Given the description of an element on the screen output the (x, y) to click on. 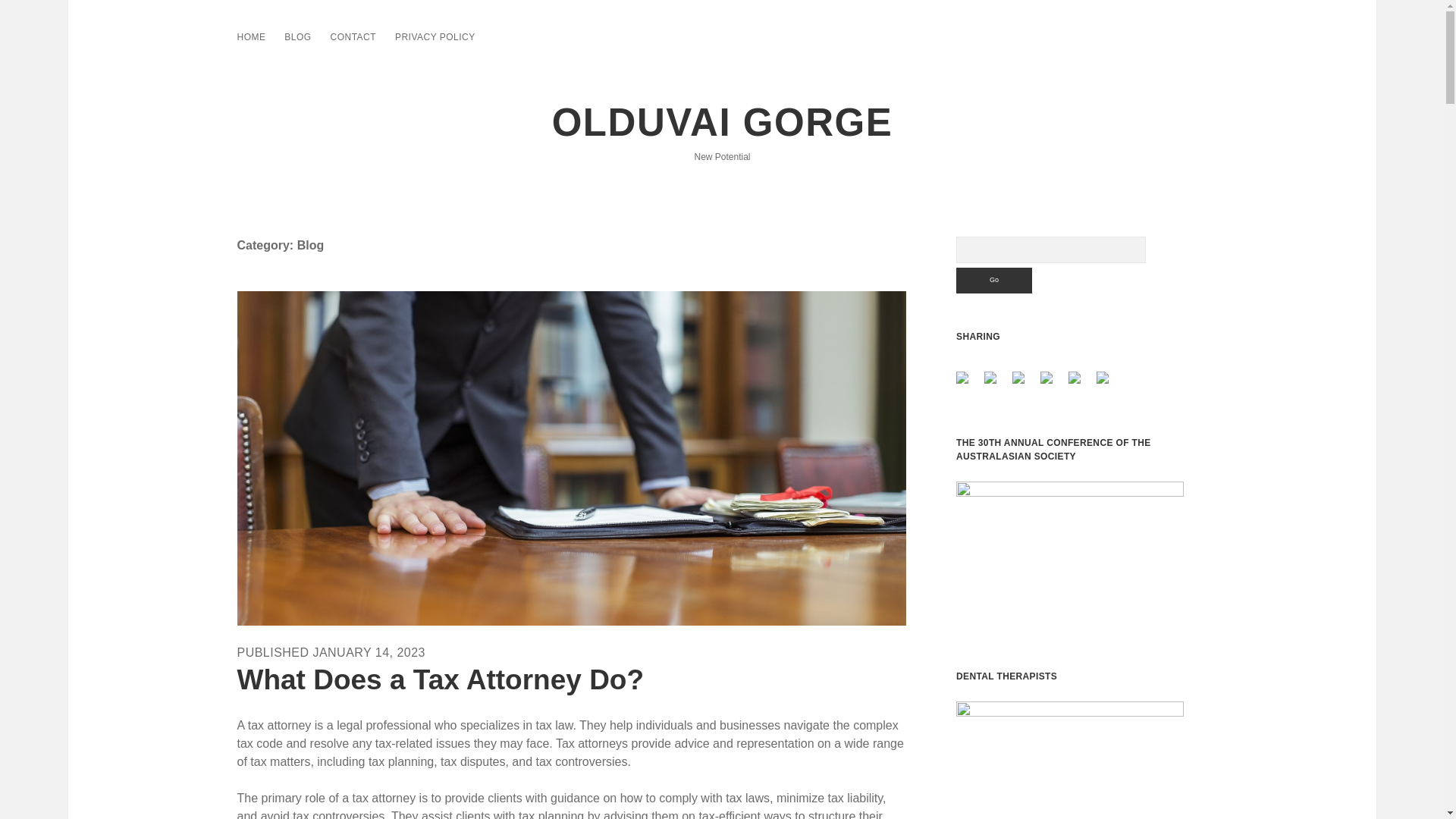
Search for: (1050, 249)
Share on Reddit (1018, 377)
Go (994, 280)
What Does a Tax Attorney Do? (439, 679)
Share on Linkedin (1080, 383)
Share on Reddit (1023, 383)
BLOG (297, 37)
Share on Linkedin (1074, 377)
Pin it with Pinterest (1046, 377)
CONTACT (352, 37)
Share on Twitter (996, 383)
OLDUVAI GORGE (722, 122)
Go (994, 280)
Pin it with Pinterest (1052, 383)
HOME (249, 37)
